Given the description of an element on the screen output the (x, y) to click on. 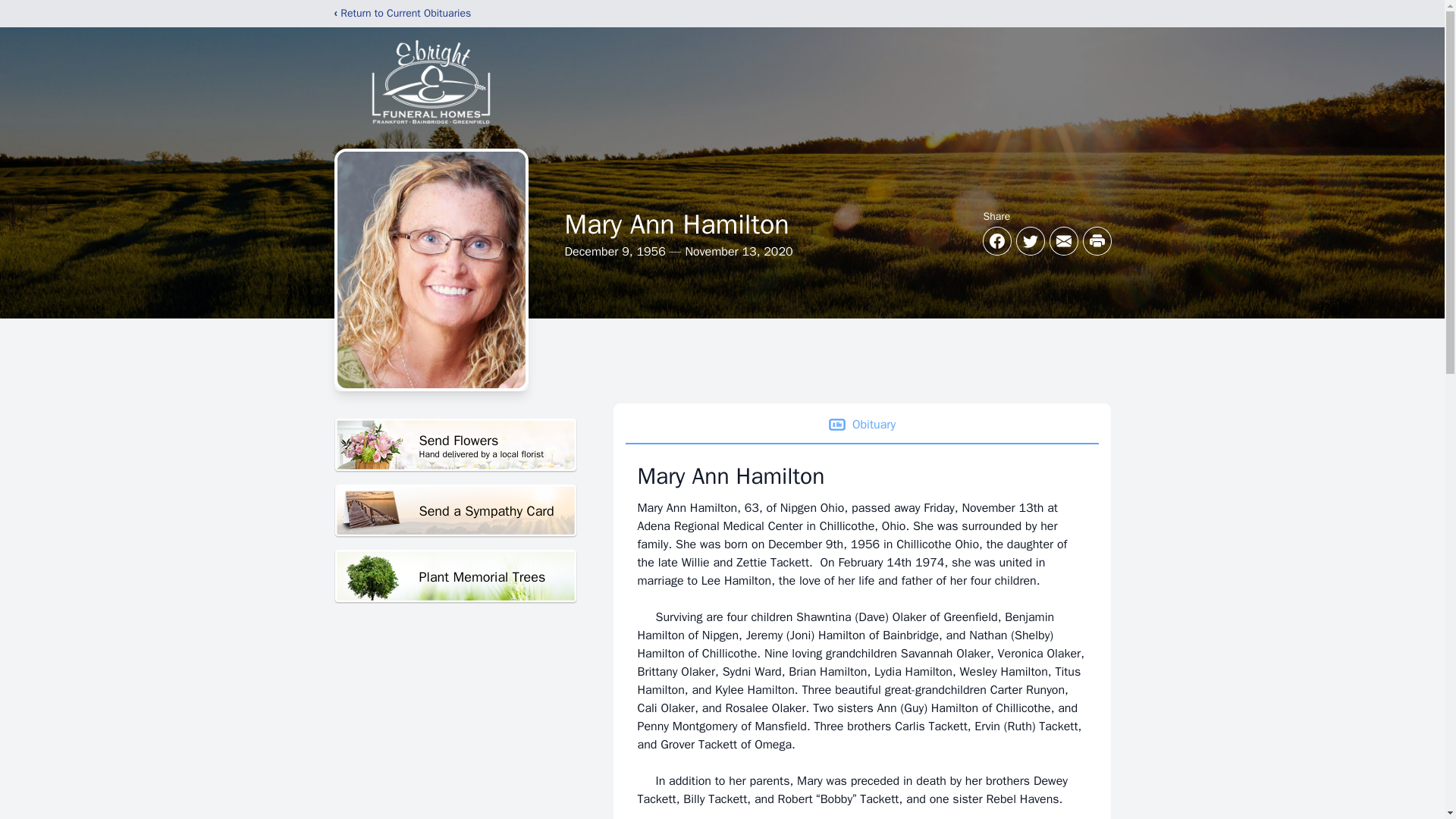
Obituary (454, 445)
Plant Memorial Trees (860, 425)
Send a Sympathy Card (454, 576)
